Given the description of an element on the screen output the (x, y) to click on. 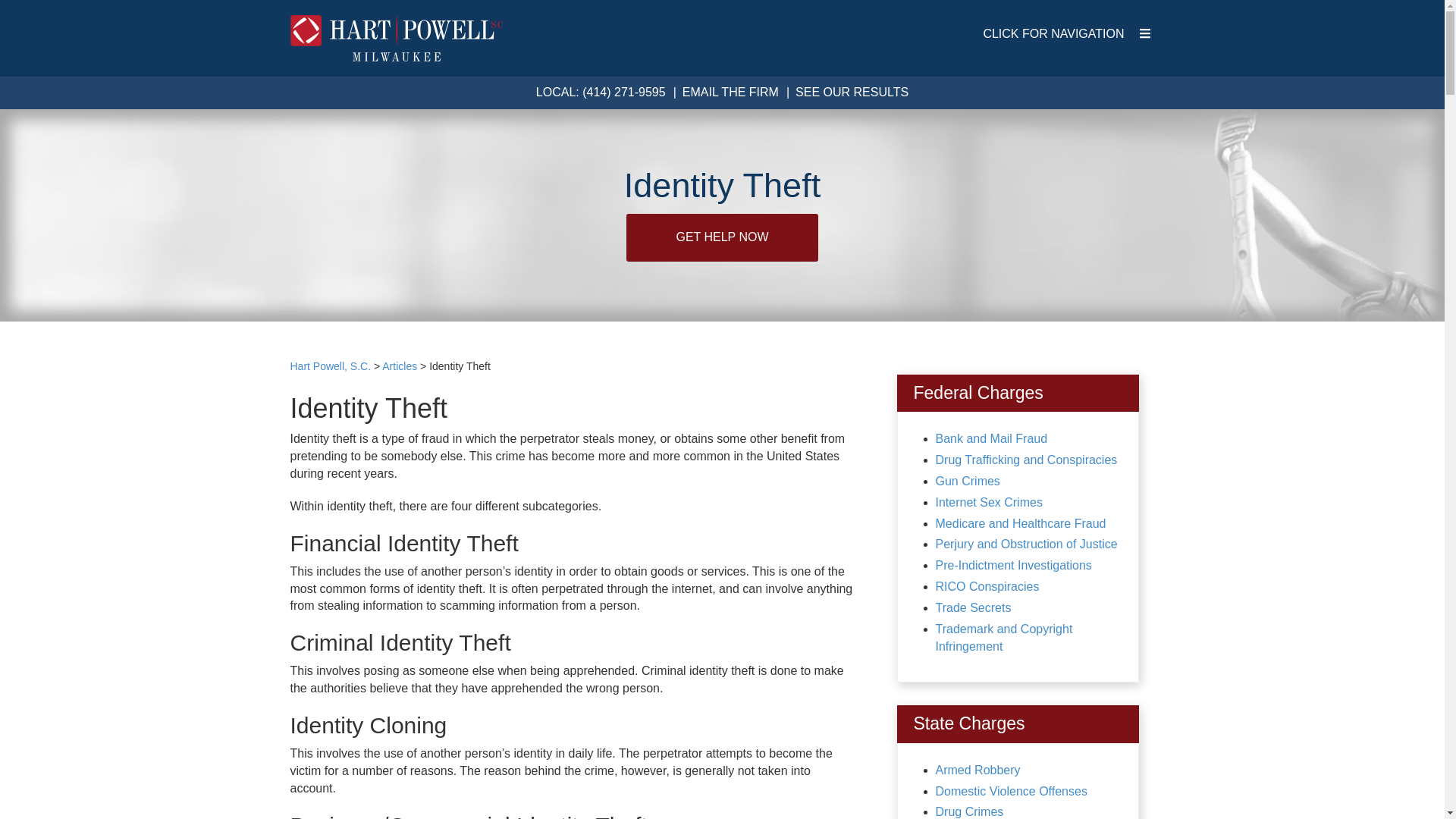
Perjury and Obstruction of Justice (1027, 543)
Drug Crimes (970, 811)
RICO Conspiracies (987, 585)
Armed Robbery (978, 769)
Pre-Indictment Investigations (1014, 564)
Internet Sex Crimes (989, 502)
Domestic Violence Offenses (1011, 790)
EMAIL THE FIRM (730, 91)
SEE OUR RESULTS (851, 91)
Bank and Mail Fraud (992, 438)
